Given the description of an element on the screen output the (x, y) to click on. 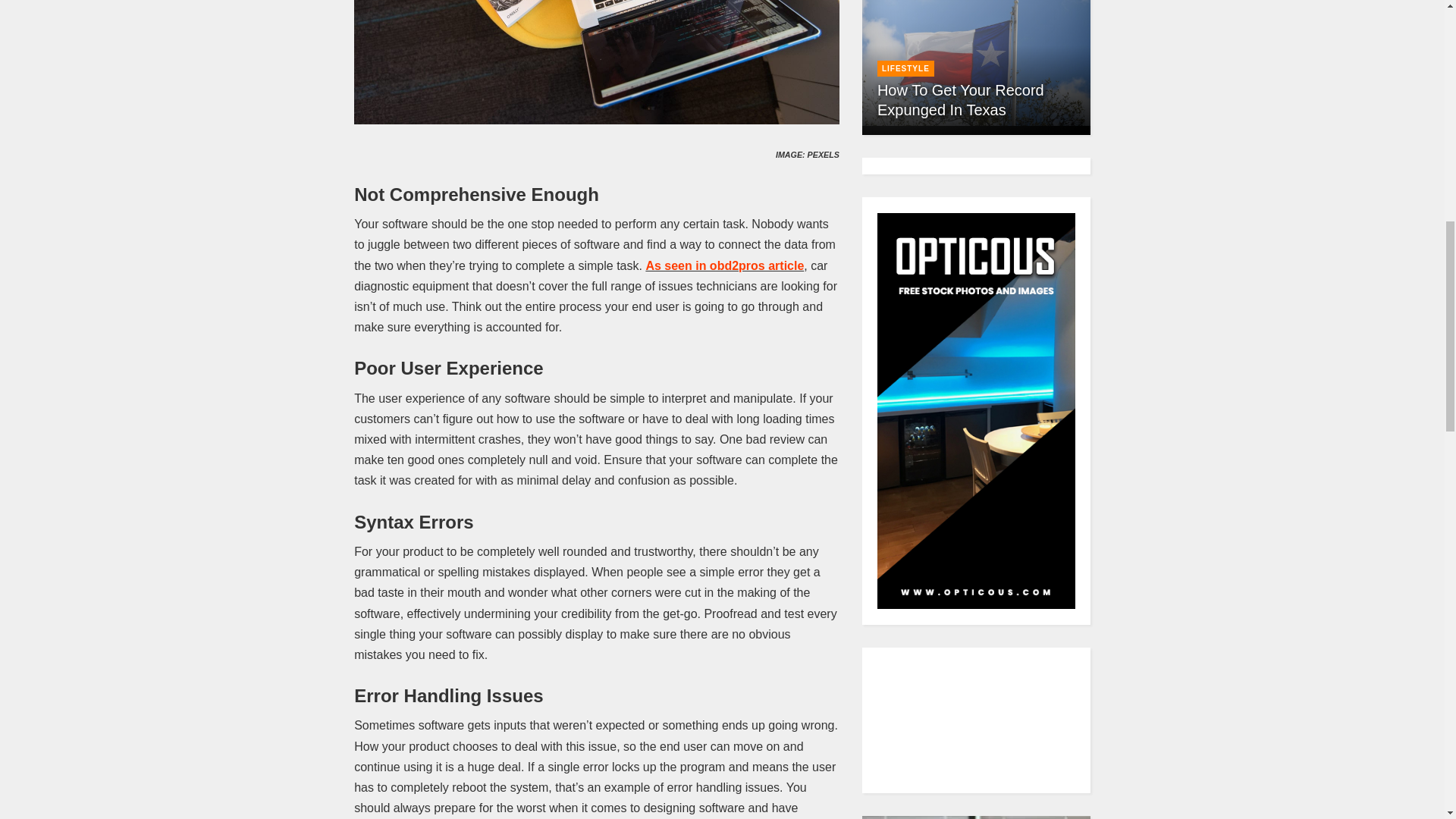
How To Get Your Record Expunged In Texas (960, 99)
How To Get Your Record Expunged In Texas (975, 63)
